Given the description of an element on the screen output the (x, y) to click on. 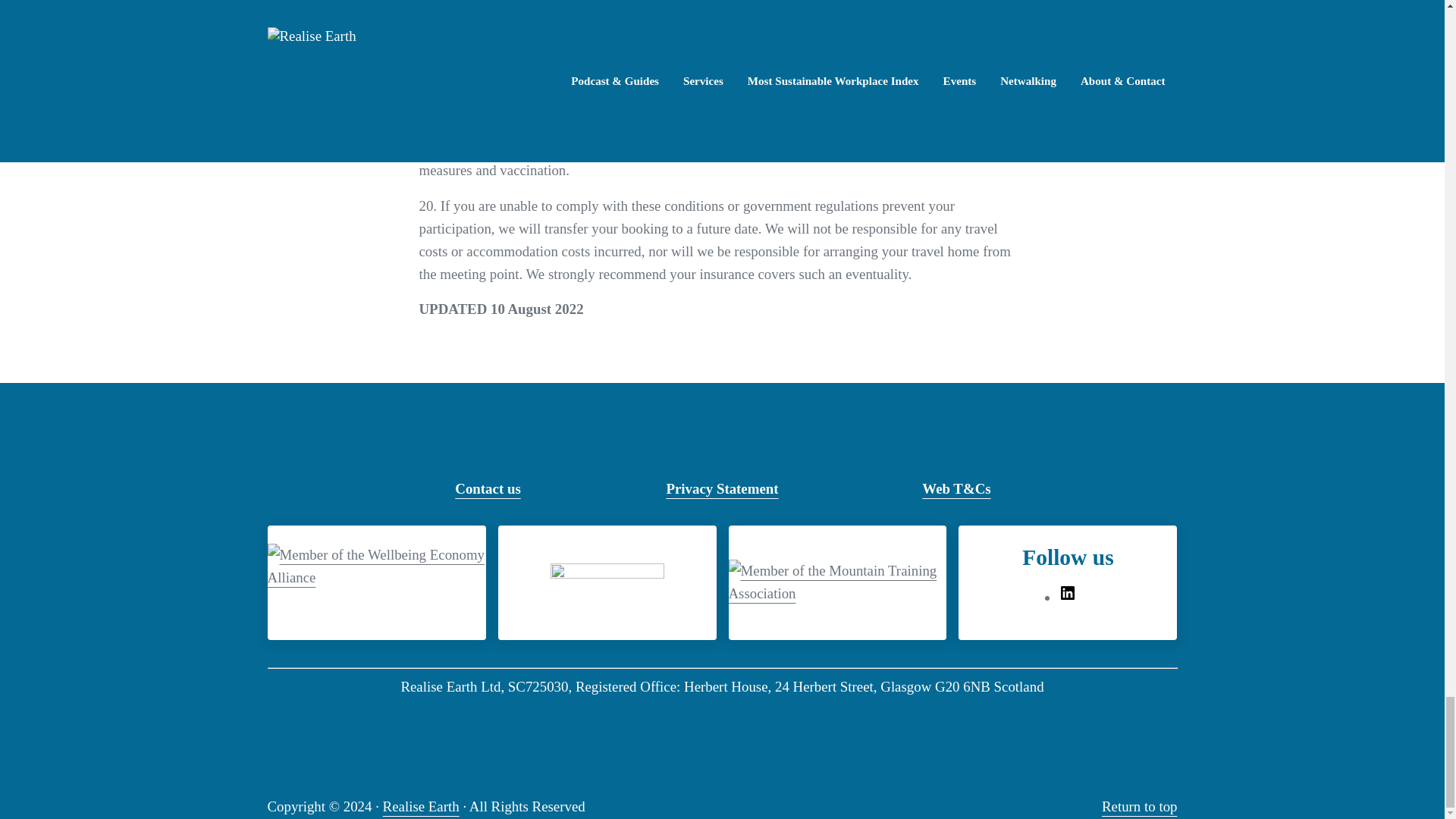
Realise Earth LinkedIn page (1067, 596)
Privacy Statement (721, 488)
Return to top (1139, 806)
Realise Earth (421, 806)
Contact us (486, 488)
